Given the description of an element on the screen output the (x, y) to click on. 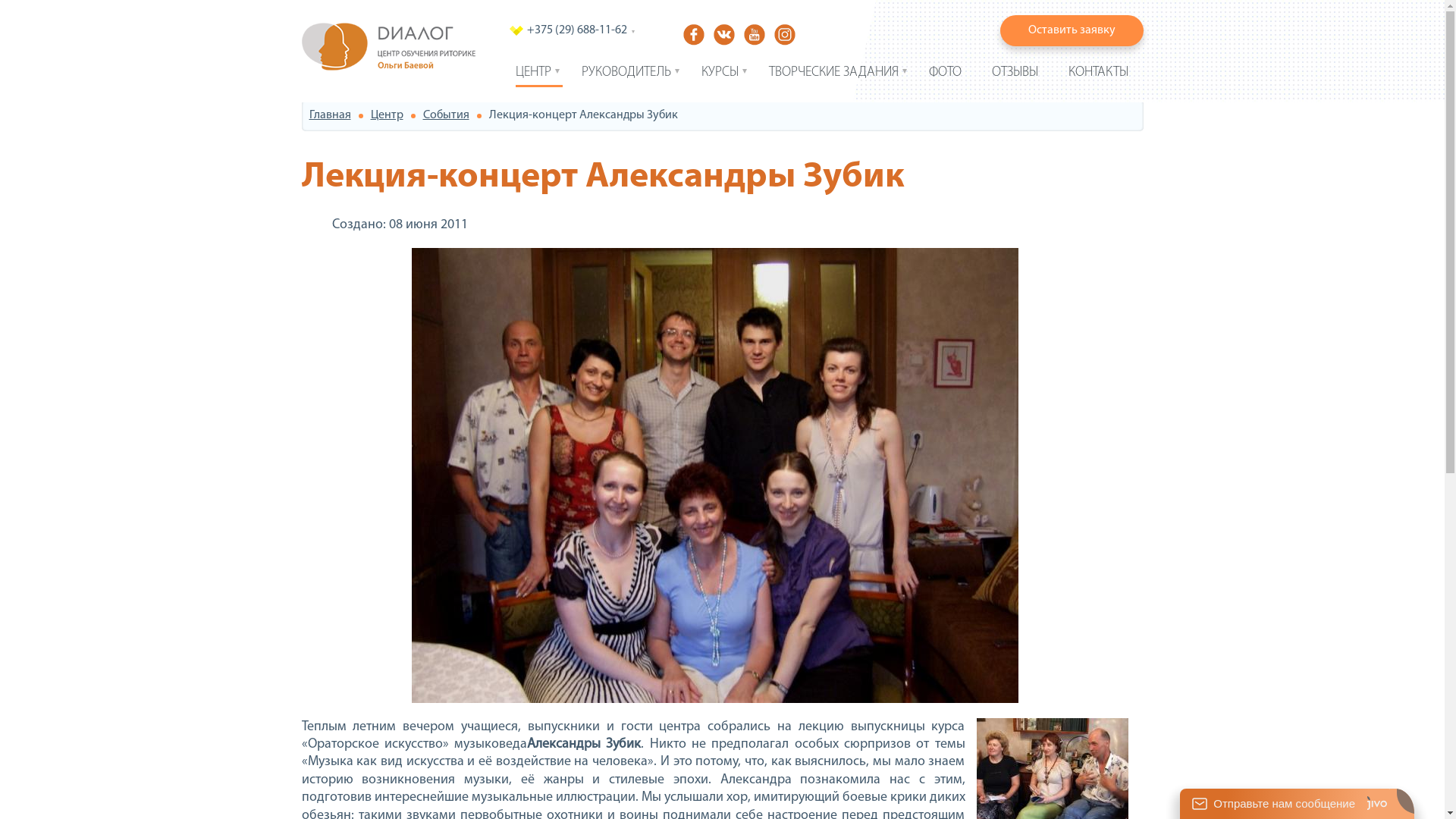
+375 (29) 688-11-62 Element type: text (576, 30)
